Given the description of an element on the screen output the (x, y) to click on. 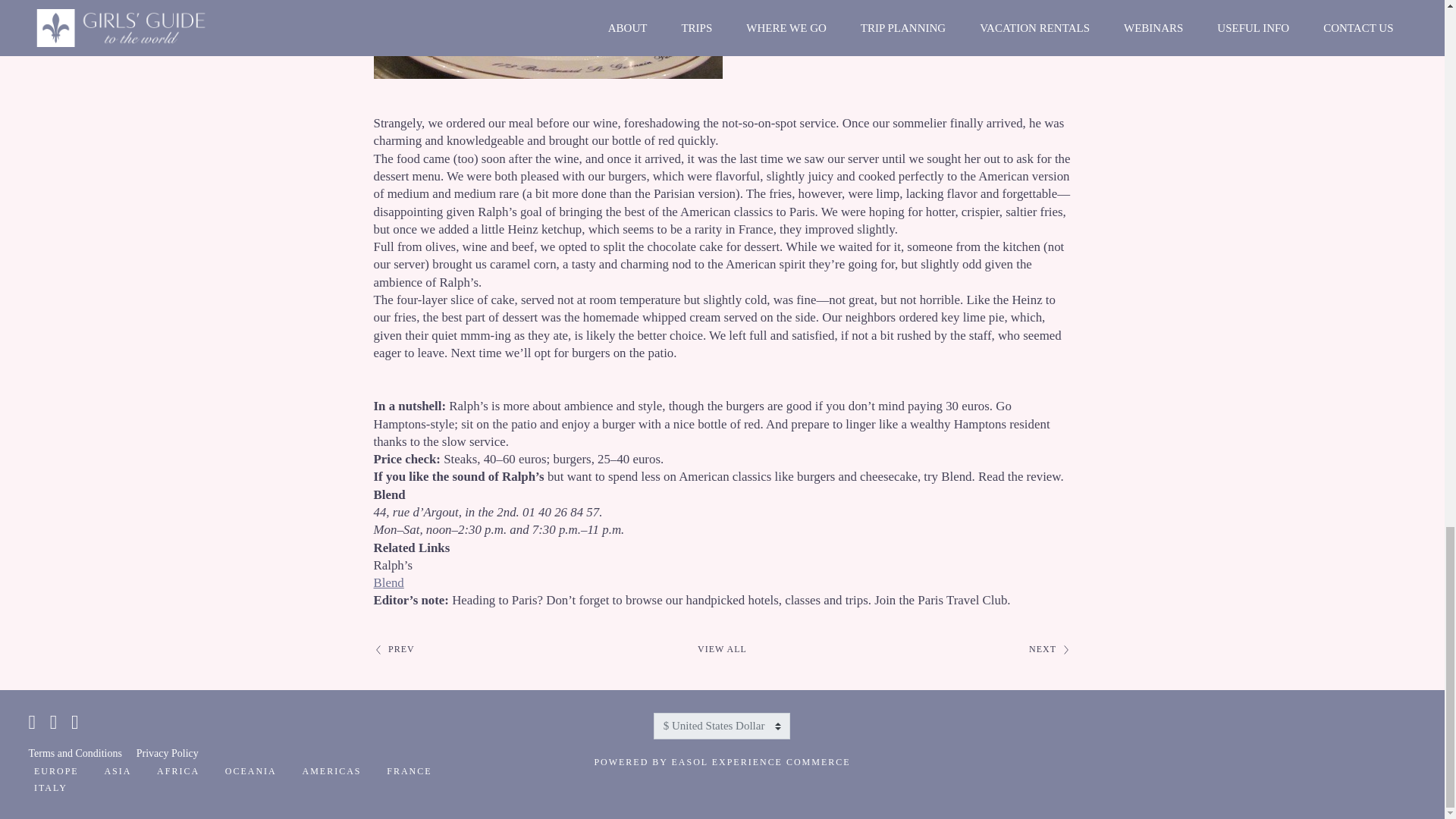
POWERED BY EASOL EXPERIENCE COMMERCE (721, 762)
Privacy Policy (167, 753)
Terms and Conditions (75, 753)
OCEANIA (250, 771)
AMERICAS (331, 771)
NEXT (1050, 649)
VIEW ALL (721, 649)
EUROPE (55, 771)
ASIA (117, 771)
PREV (392, 649)
